Given the description of an element on the screen output the (x, y) to click on. 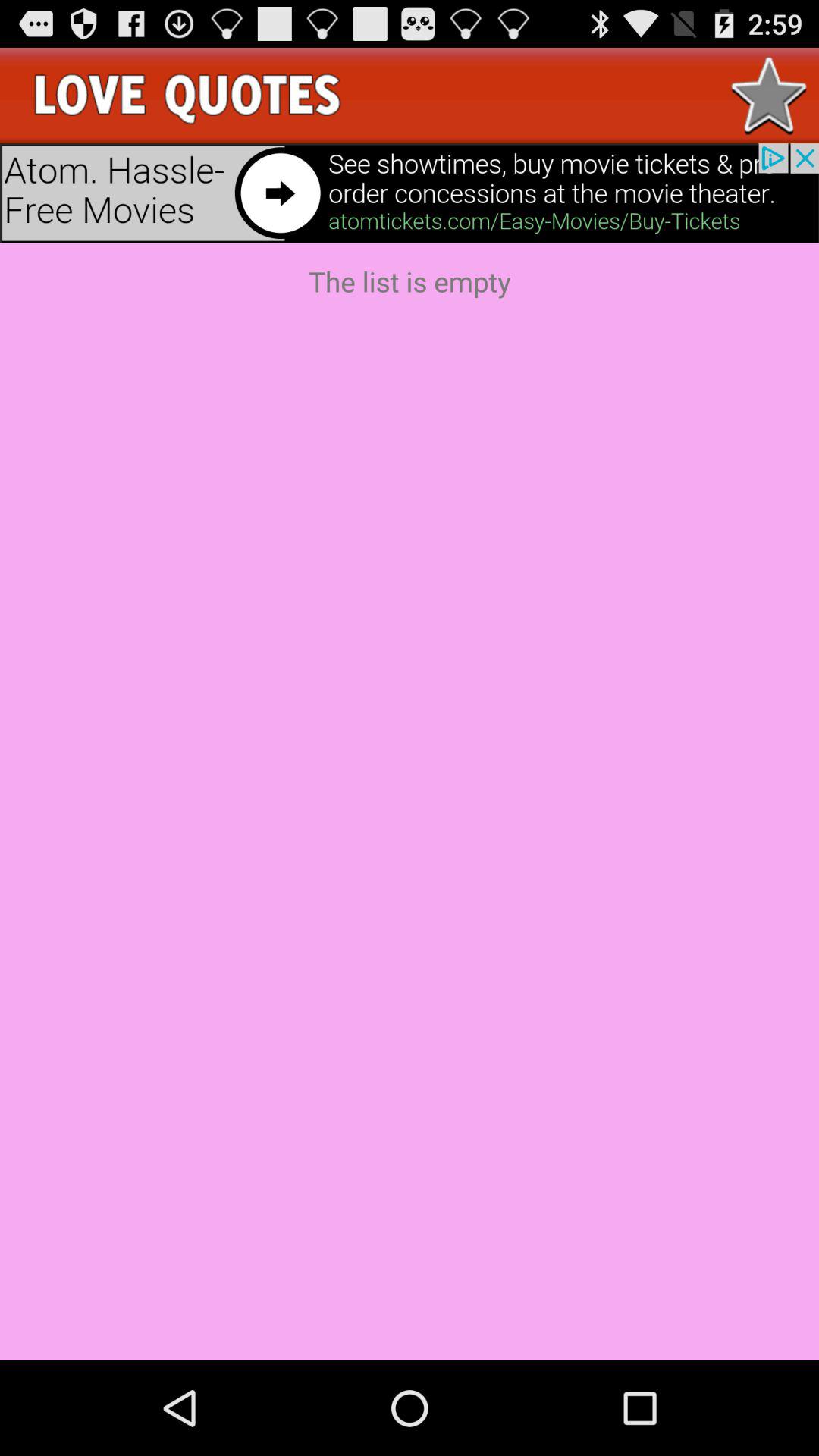
add to favels (768, 95)
